Given the description of an element on the screen output the (x, y) to click on. 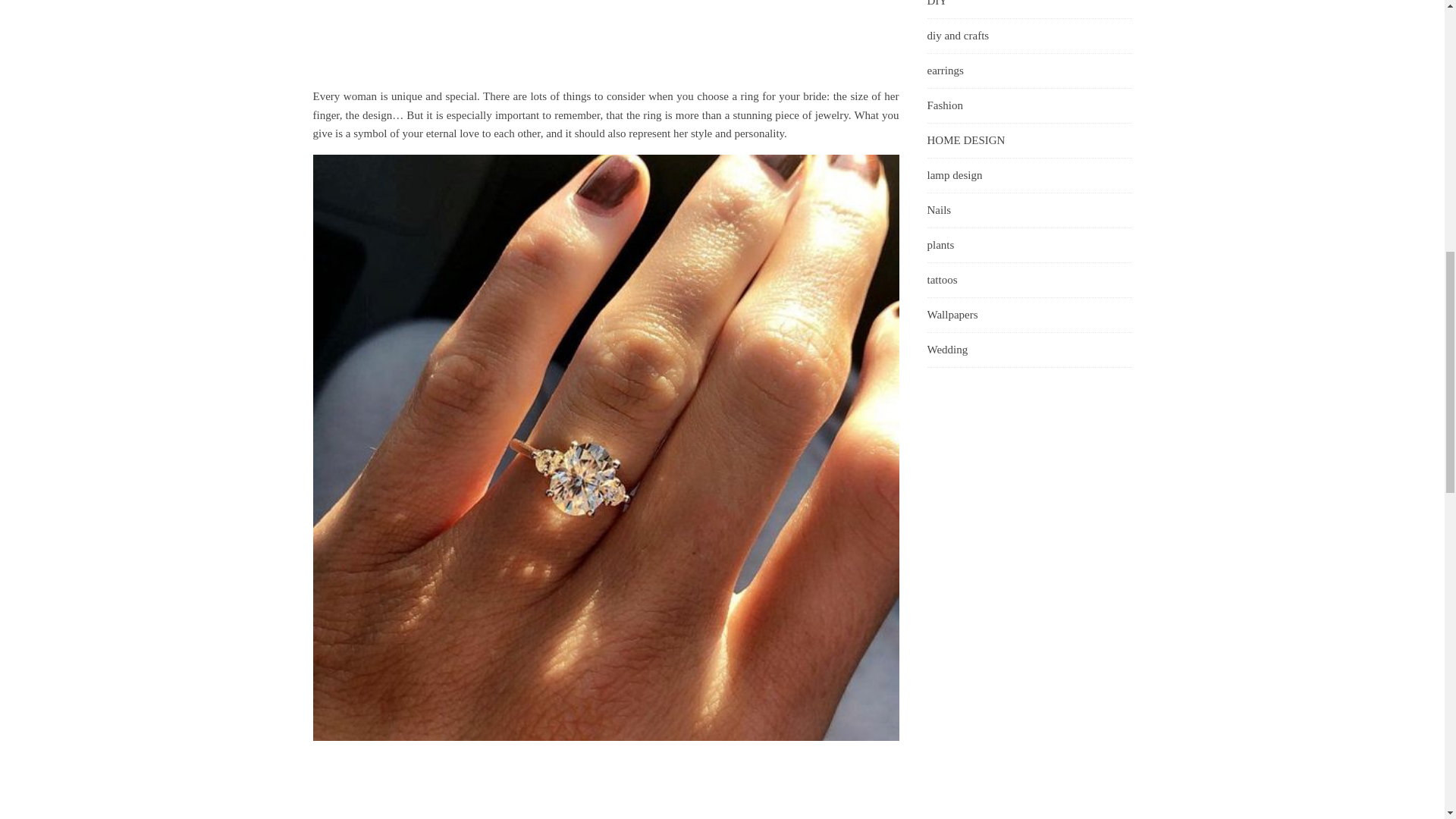
Advertisement (605, 785)
Advertisement (605, 43)
